Given the description of an element on the screen output the (x, y) to click on. 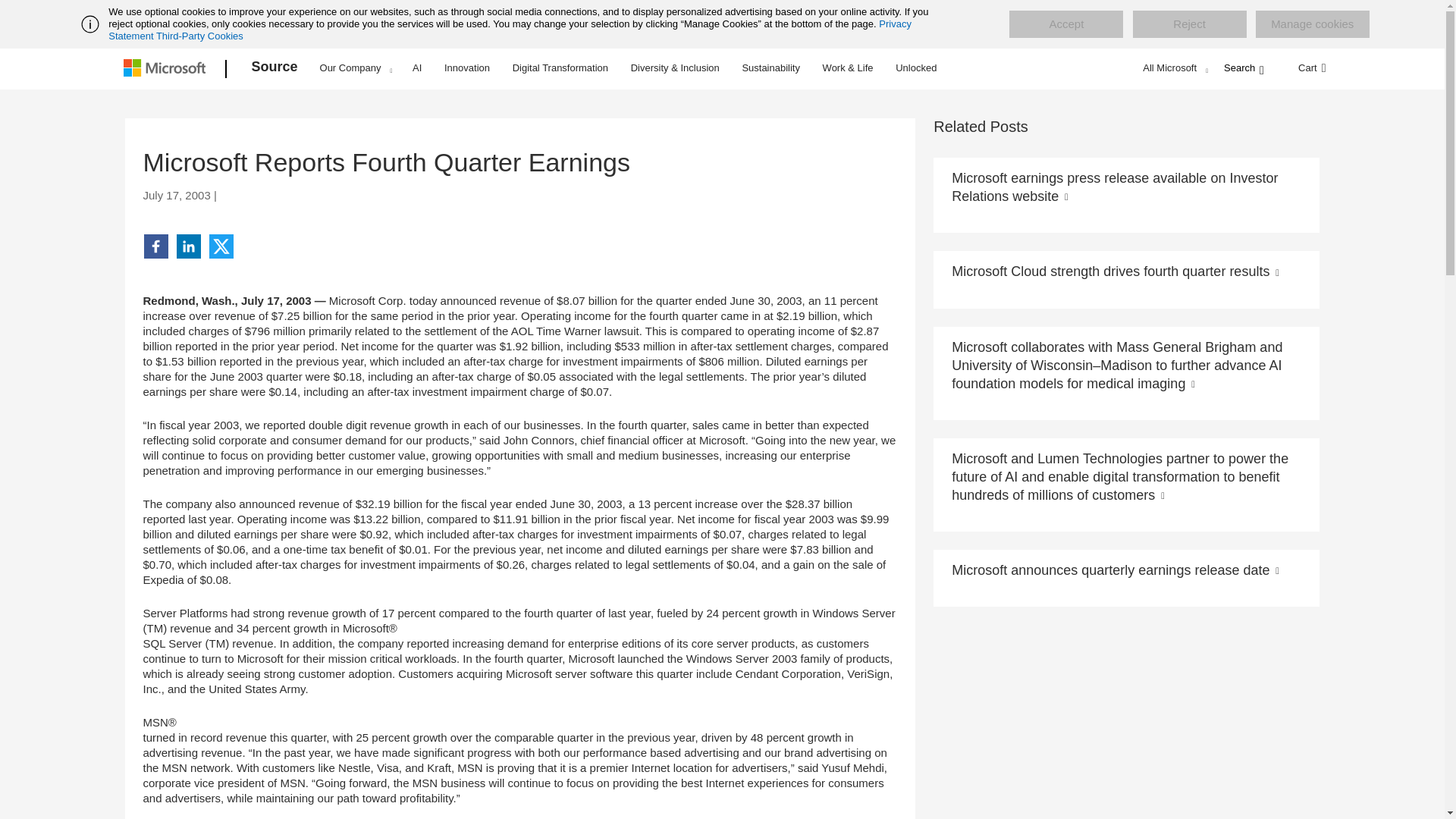
Microsoft (167, 69)
Manage cookies (1312, 23)
Accept (1065, 23)
Innovation (467, 67)
All Microsoft (1173, 67)
Our Company (355, 67)
Third-Party Cookies (199, 35)
Reject (1189, 23)
Sustainability (770, 67)
Digital Transformation (559, 67)
Privacy Statement (509, 29)
Source (274, 69)
Unlocked (915, 67)
